Given the description of an element on the screen output the (x, y) to click on. 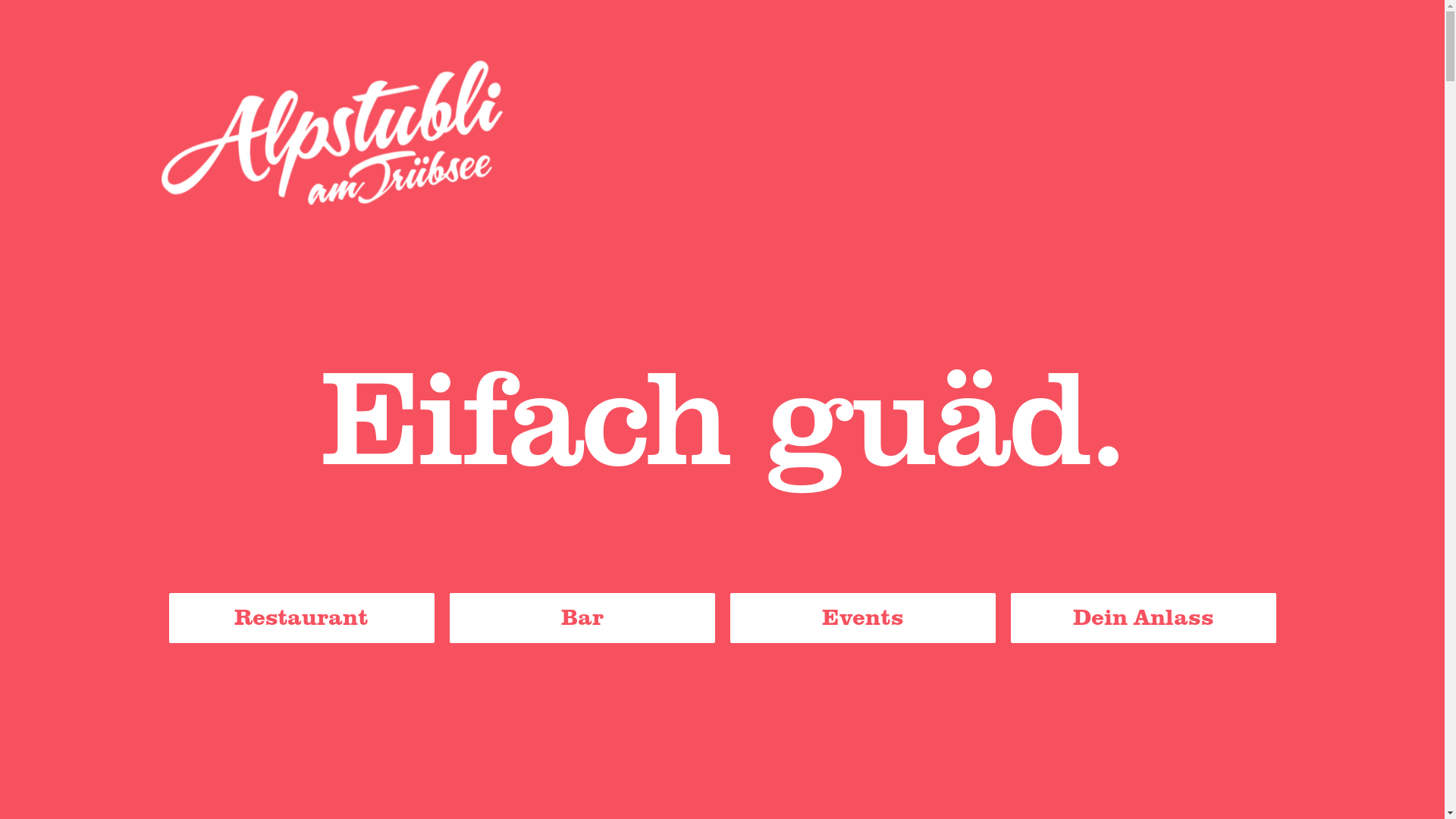
Events Element type: text (861, 617)
Restaurant Element type: text (300, 617)
Bar Element type: text (581, 617)
Dein Anlass Element type: text (1142, 617)
